Given the description of an element on the screen output the (x, y) to click on. 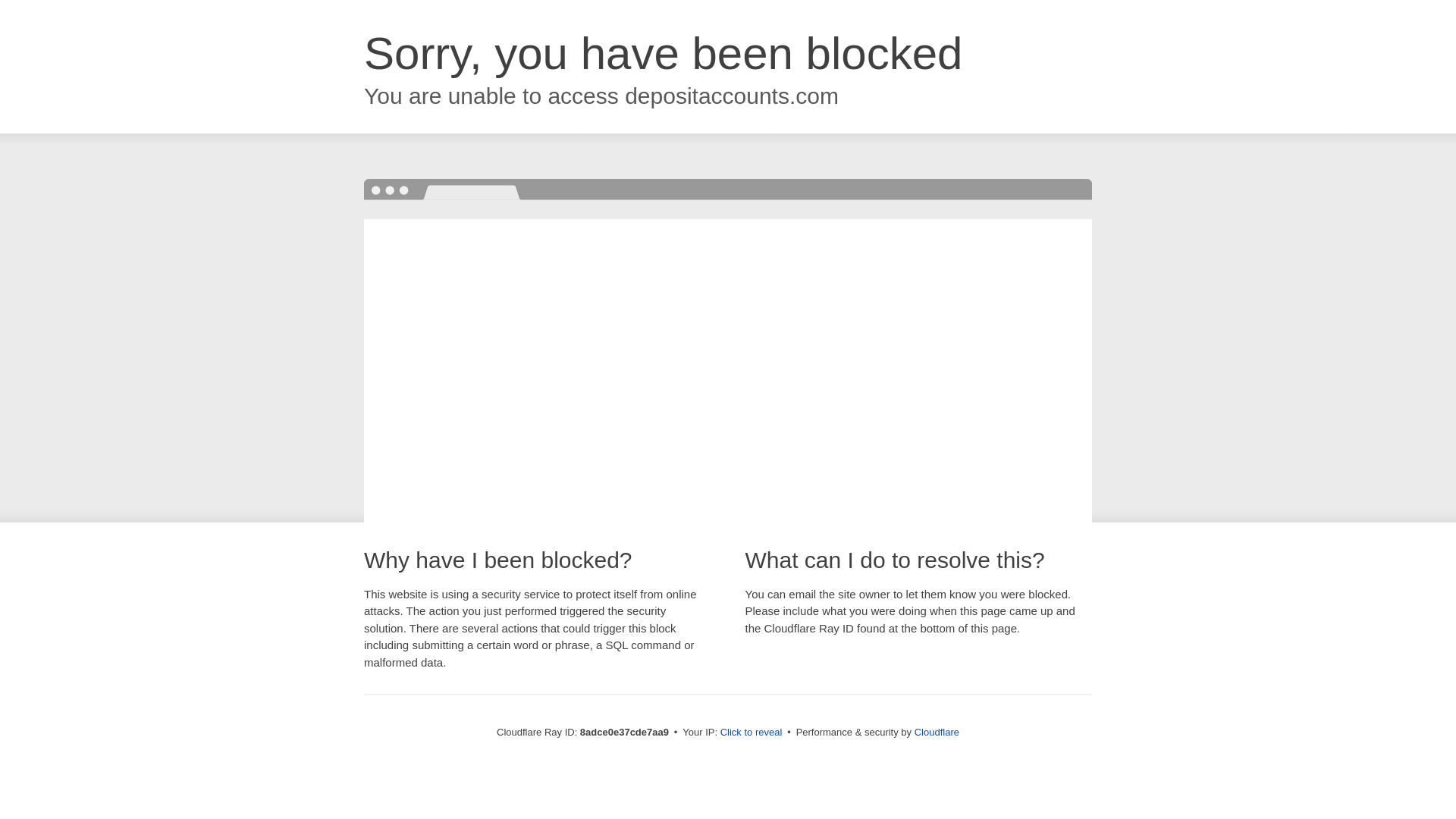
Click to reveal (751, 732)
Cloudflare (936, 731)
